Given the description of an element on the screen output the (x, y) to click on. 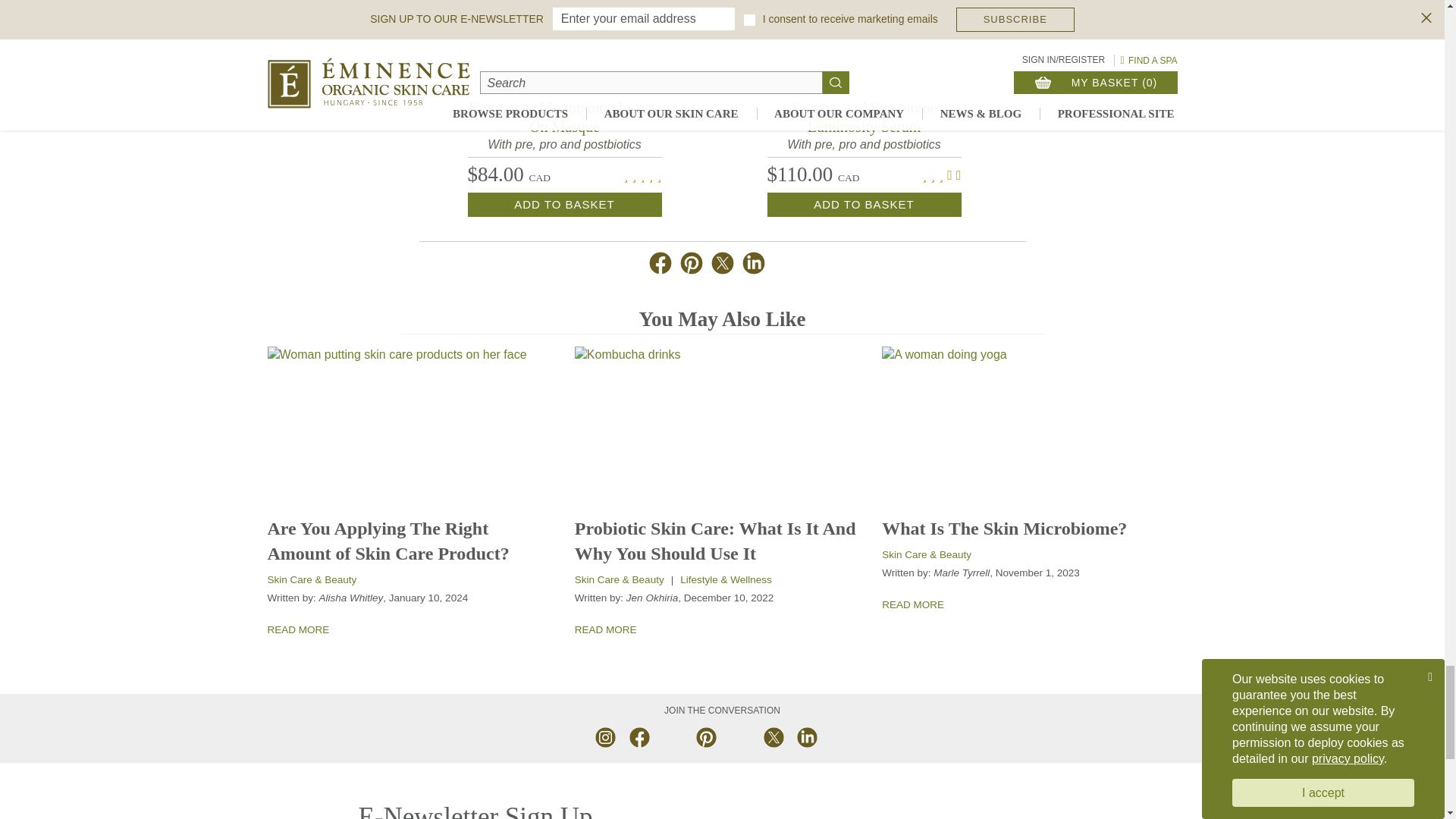
Facebook (638, 735)
Blog (839, 735)
YouTube (671, 735)
Add to basket (564, 204)
Pinterest (705, 735)
Instagram (604, 735)
Add to basket (863, 204)
Twitter (772, 735)
LinkedIn (805, 735)
